Given the description of an element on the screen output the (x, y) to click on. 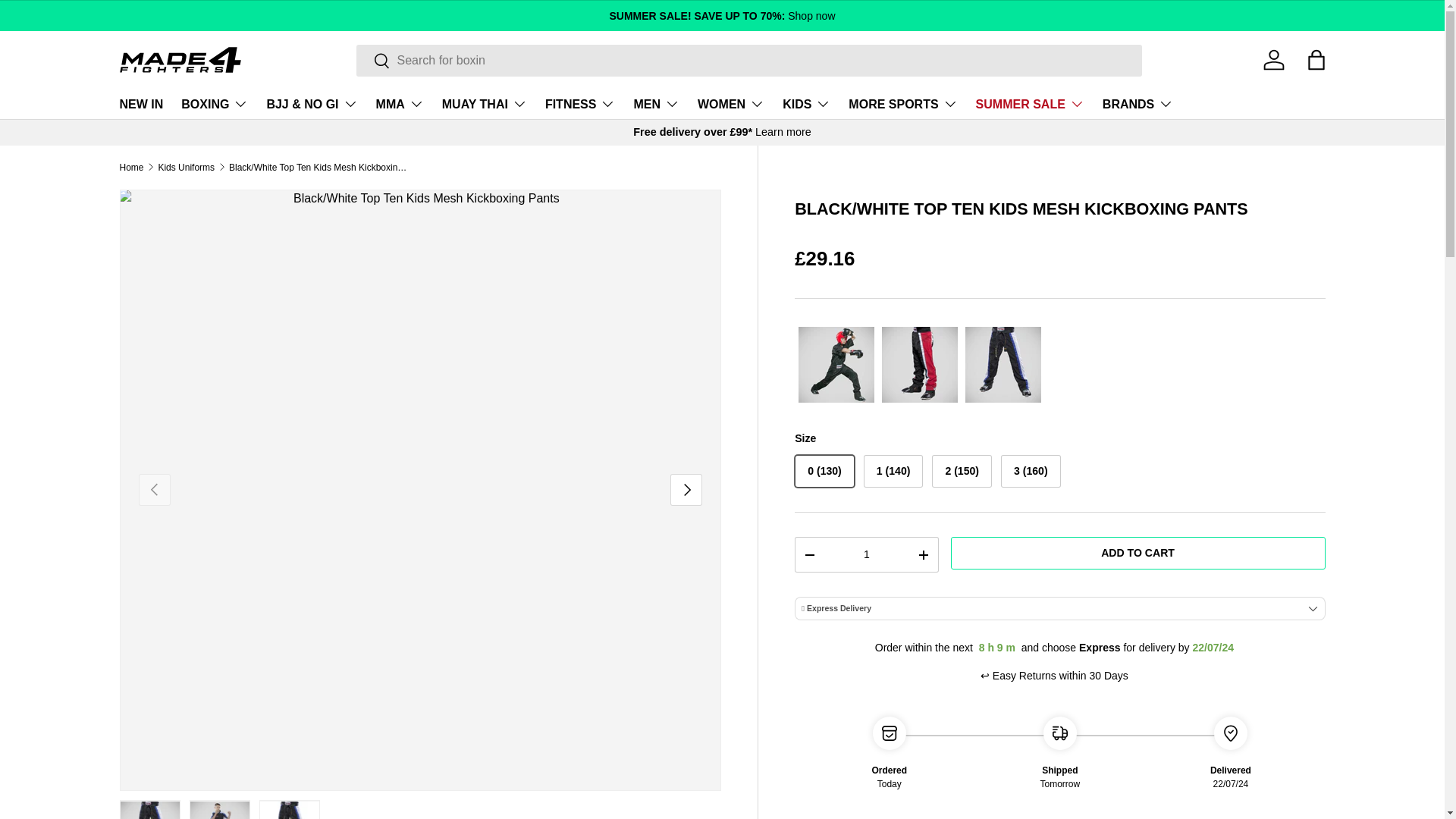
BOXING (213, 103)
United Kingdom (782, 132)
NEW IN (141, 103)
Search (373, 61)
Log in (1273, 59)
1 (866, 554)
Outlet (721, 15)
Bag (1316, 59)
SKIP TO CONTENT (68, 21)
